Given the description of an element on the screen output the (x, y) to click on. 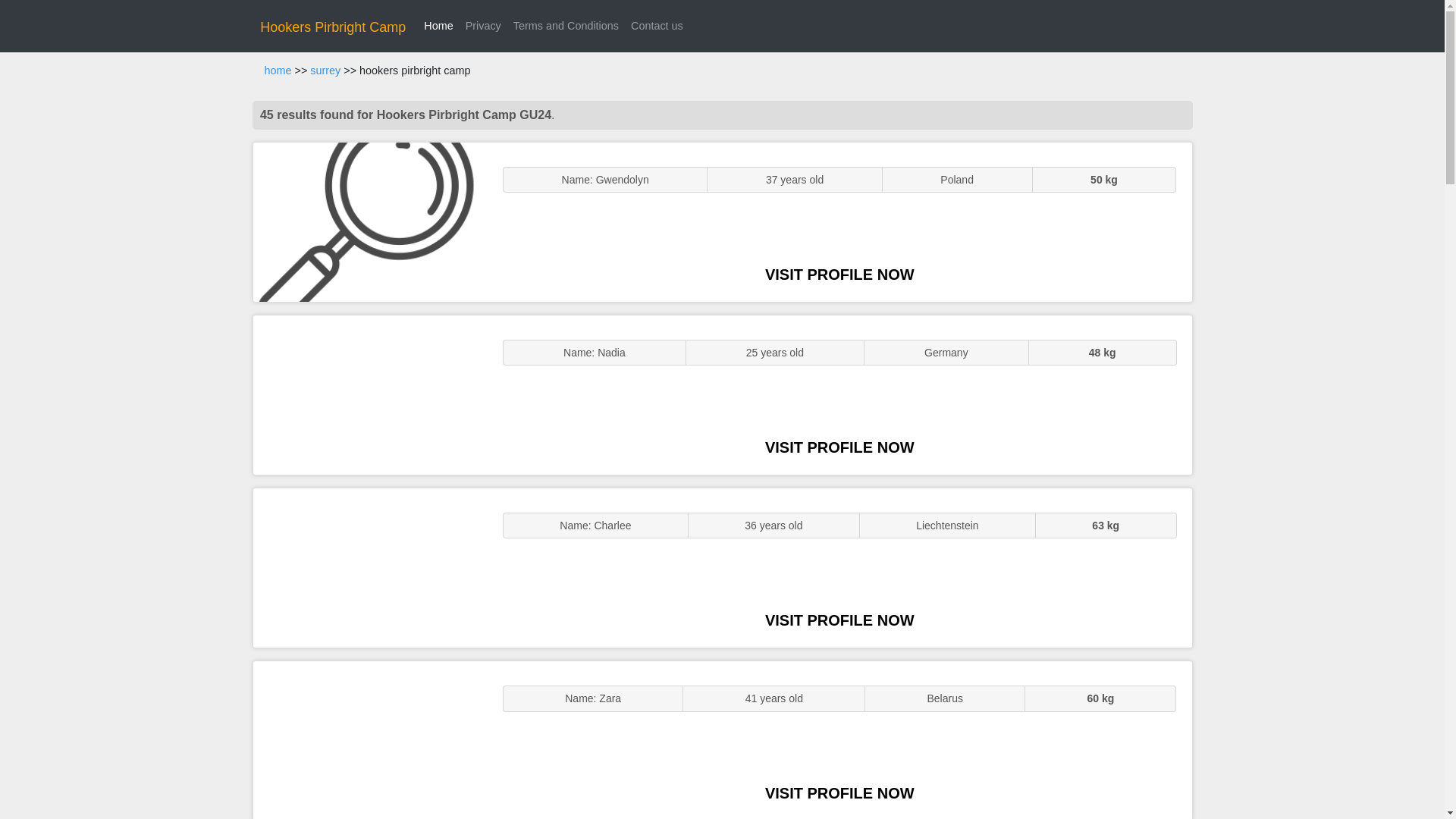
VISIT PROFILE NOW (839, 619)
Hookers Pirbright Camp (333, 27)
Privacy (483, 25)
Sexy (370, 567)
Contact us (656, 25)
home (277, 70)
 ENGLISH STUNNER (370, 222)
surrey (325, 70)
VISIT PROFILE NOW (839, 792)
GFE (370, 395)
